Given the description of an element on the screen output the (x, y) to click on. 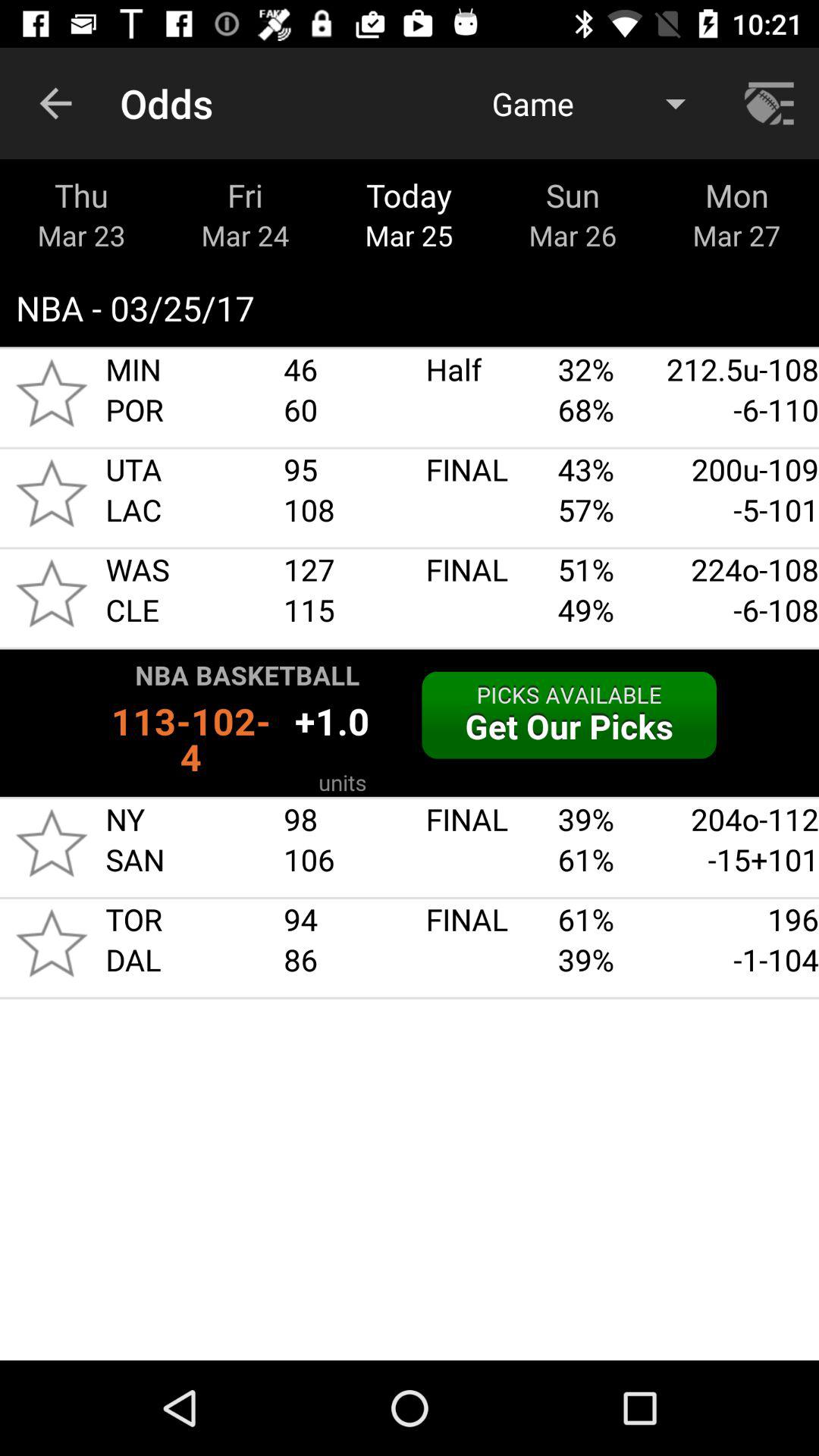
highlight interest in game (51, 942)
